Given the description of an element on the screen output the (x, y) to click on. 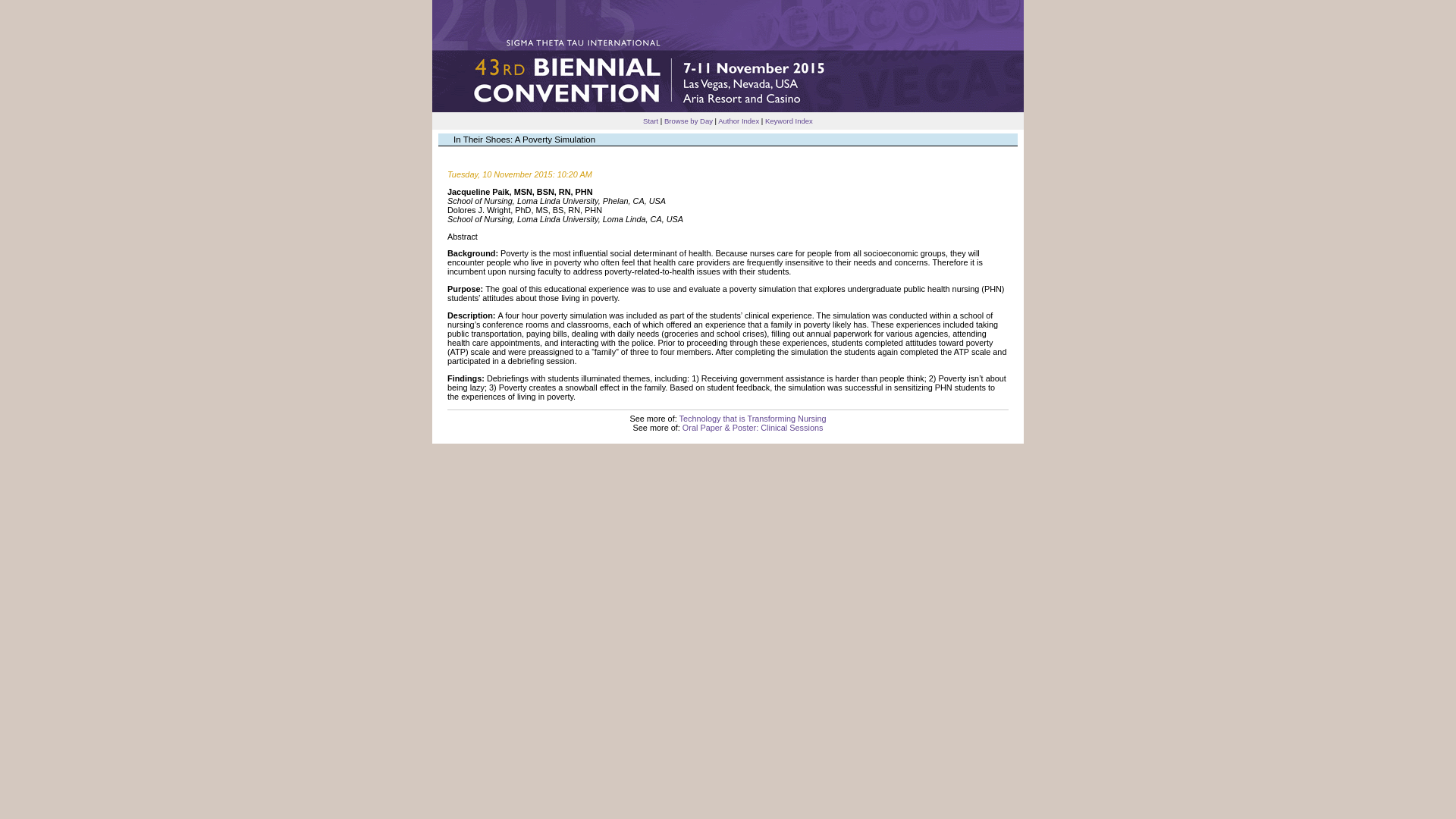
Author Index (737, 121)
Browse by Day (688, 121)
Keyword Index (788, 121)
Technology that is Transforming Nursing (753, 418)
Start (650, 121)
